Given the description of an element on the screen output the (x, y) to click on. 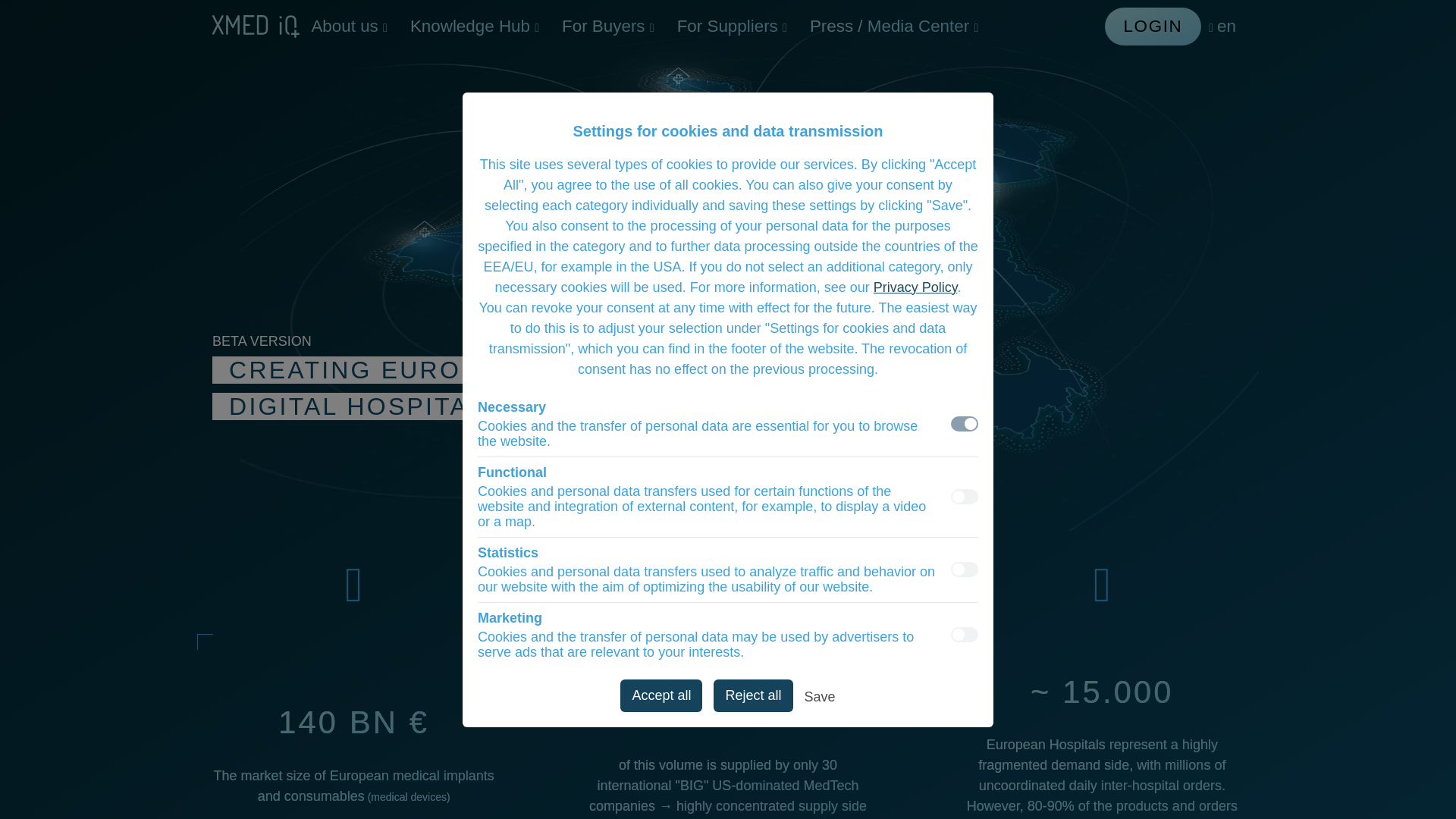
LOGIN (1153, 26)
Accept all (660, 695)
Reject all (752, 695)
Save (820, 699)
For Buyers (607, 26)
on (964, 423)
Privacy Policy (915, 286)
Knowledge Hub (474, 26)
on (964, 496)
on (964, 569)
